Given the description of an element on the screen output the (x, y) to click on. 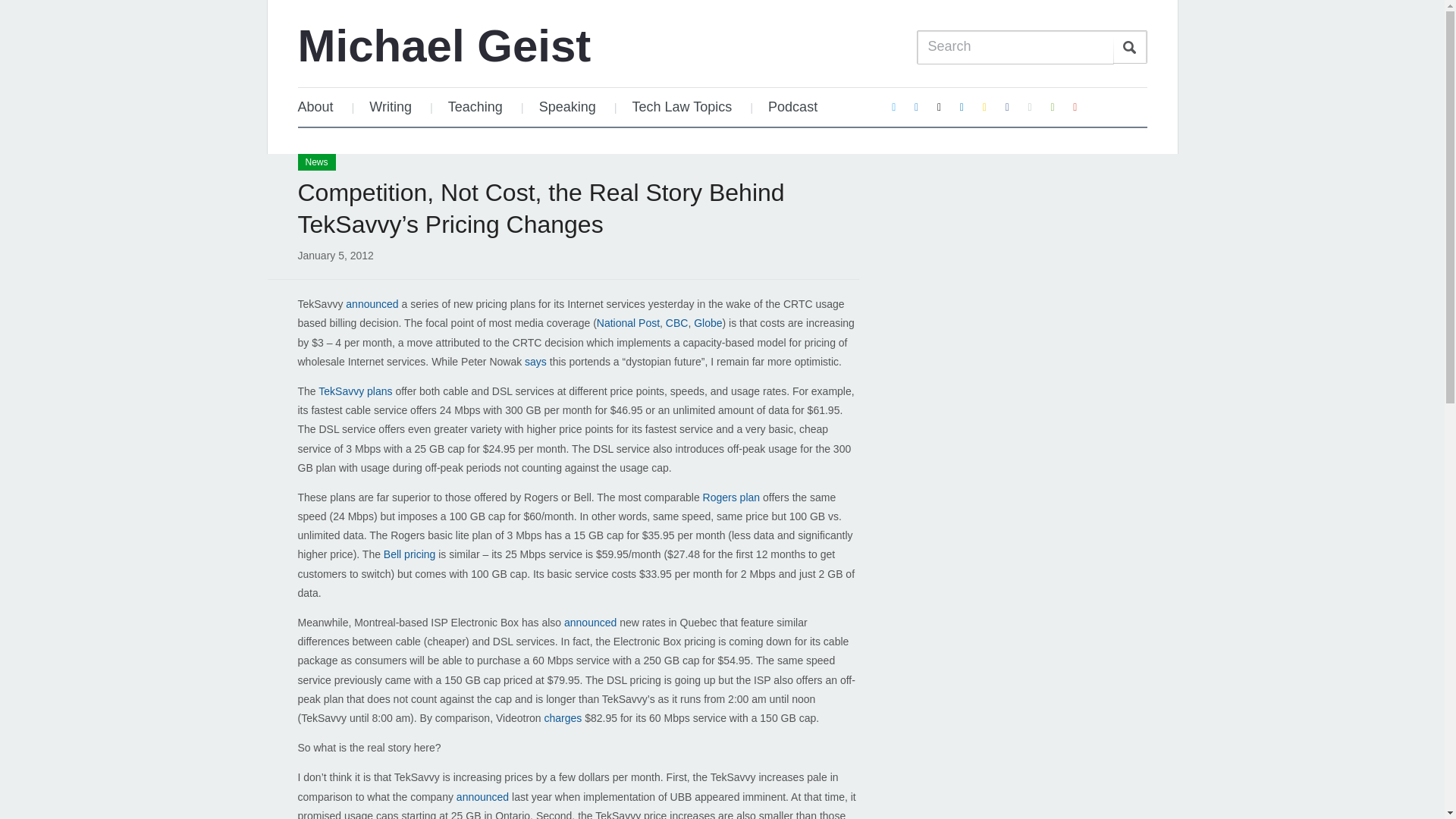
Teaching (475, 106)
Default Label (1074, 106)
Tech Law Topics (682, 106)
Default Label (1052, 106)
Default Label (983, 106)
Podcast (792, 106)
About (322, 106)
Facebook (1006, 106)
Search (1130, 46)
Search (1130, 46)
